Given the description of an element on the screen output the (x, y) to click on. 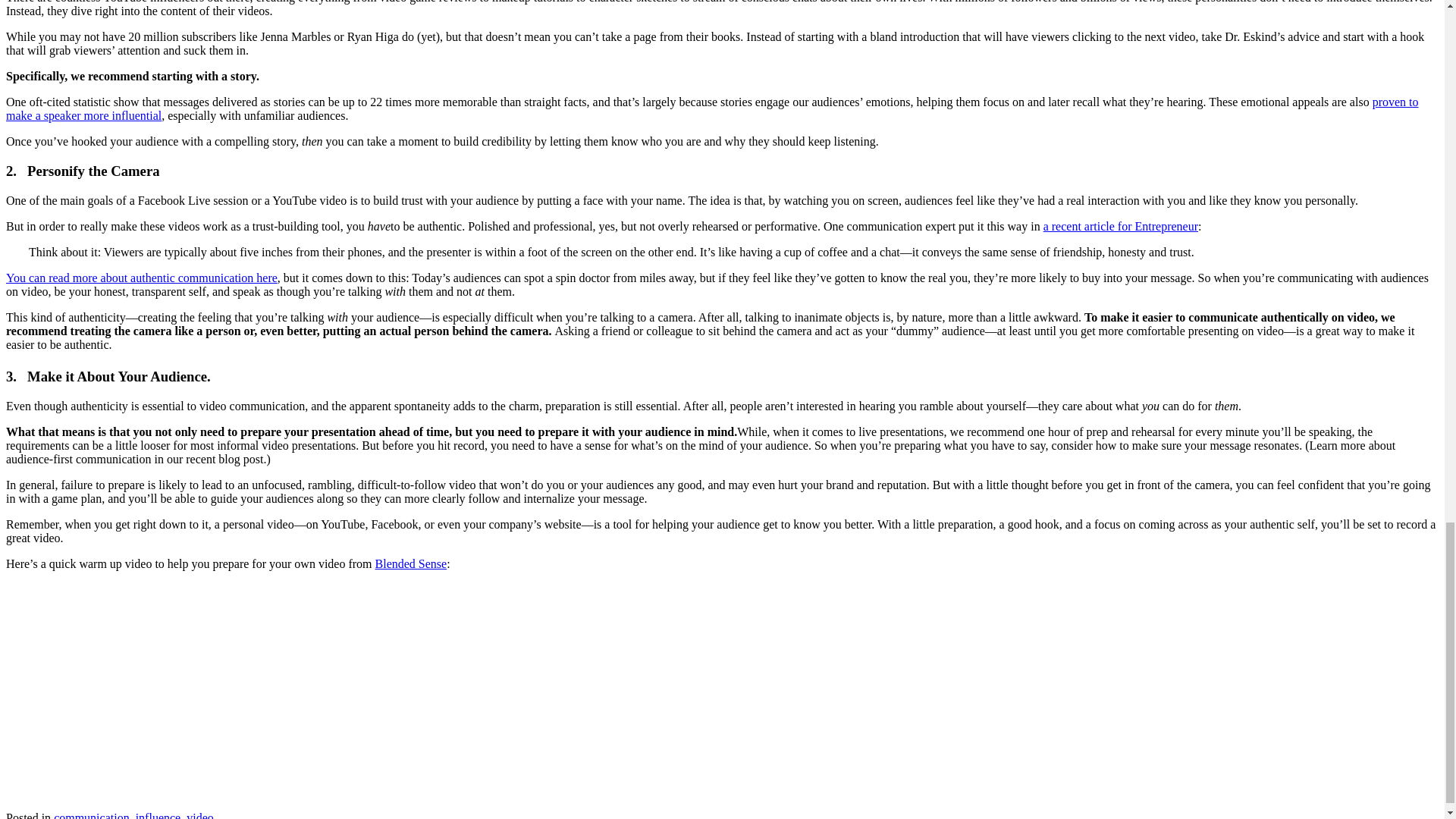
6 Ways to Make Sure You Are Ready to Be On Camera (195, 689)
